Given the description of an element on the screen output the (x, y) to click on. 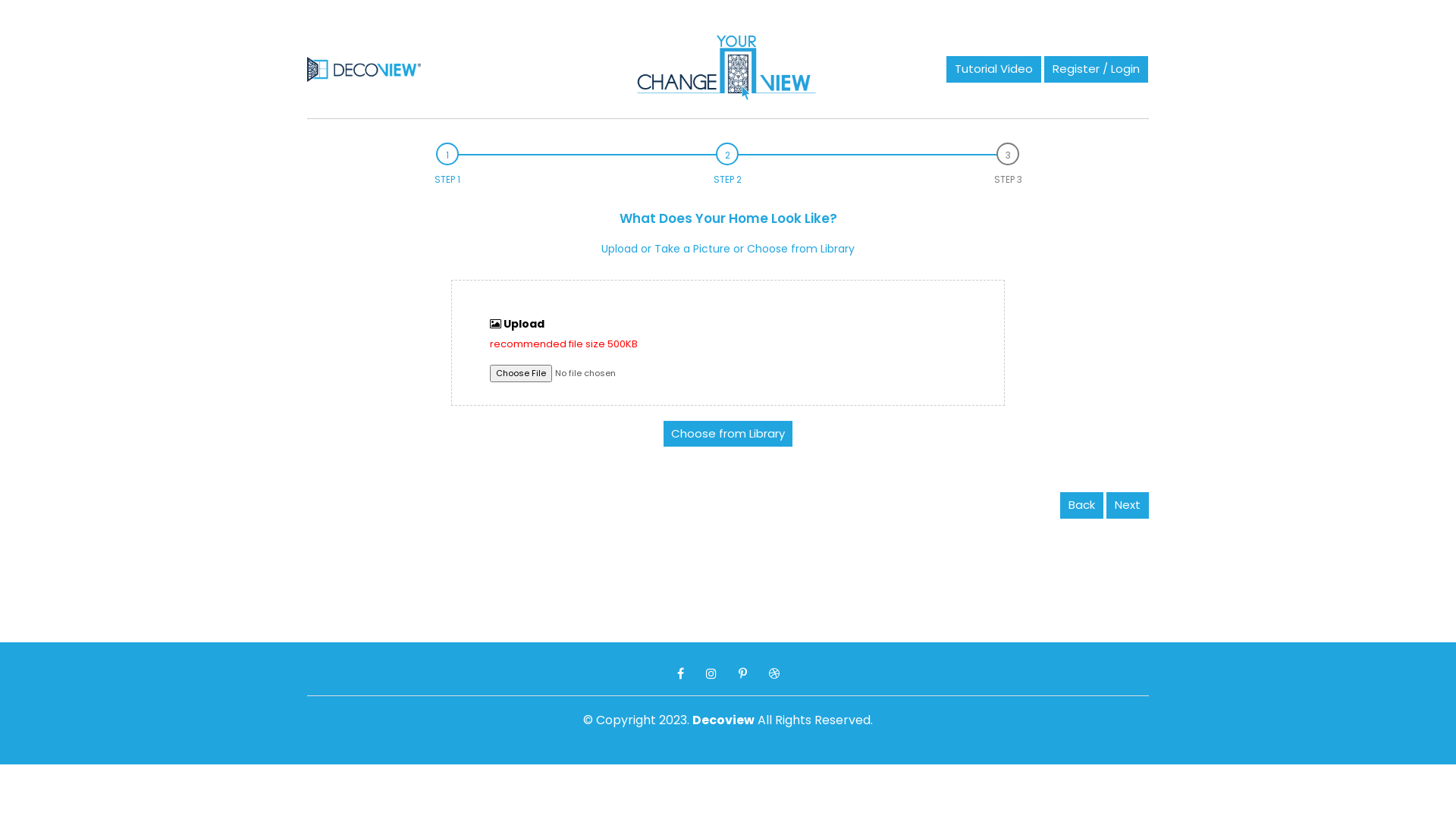
Tutorial Video Element type: text (993, 69)
Choose from Library Element type: text (727, 433)
Register / Login Element type: text (1096, 69)
Back Element type: text (1081, 505)
Back Element type: text (1083, 504)
Next Element type: text (1127, 504)
Next Element type: text (1127, 505)
